Given the description of an element on the screen output the (x, y) to click on. 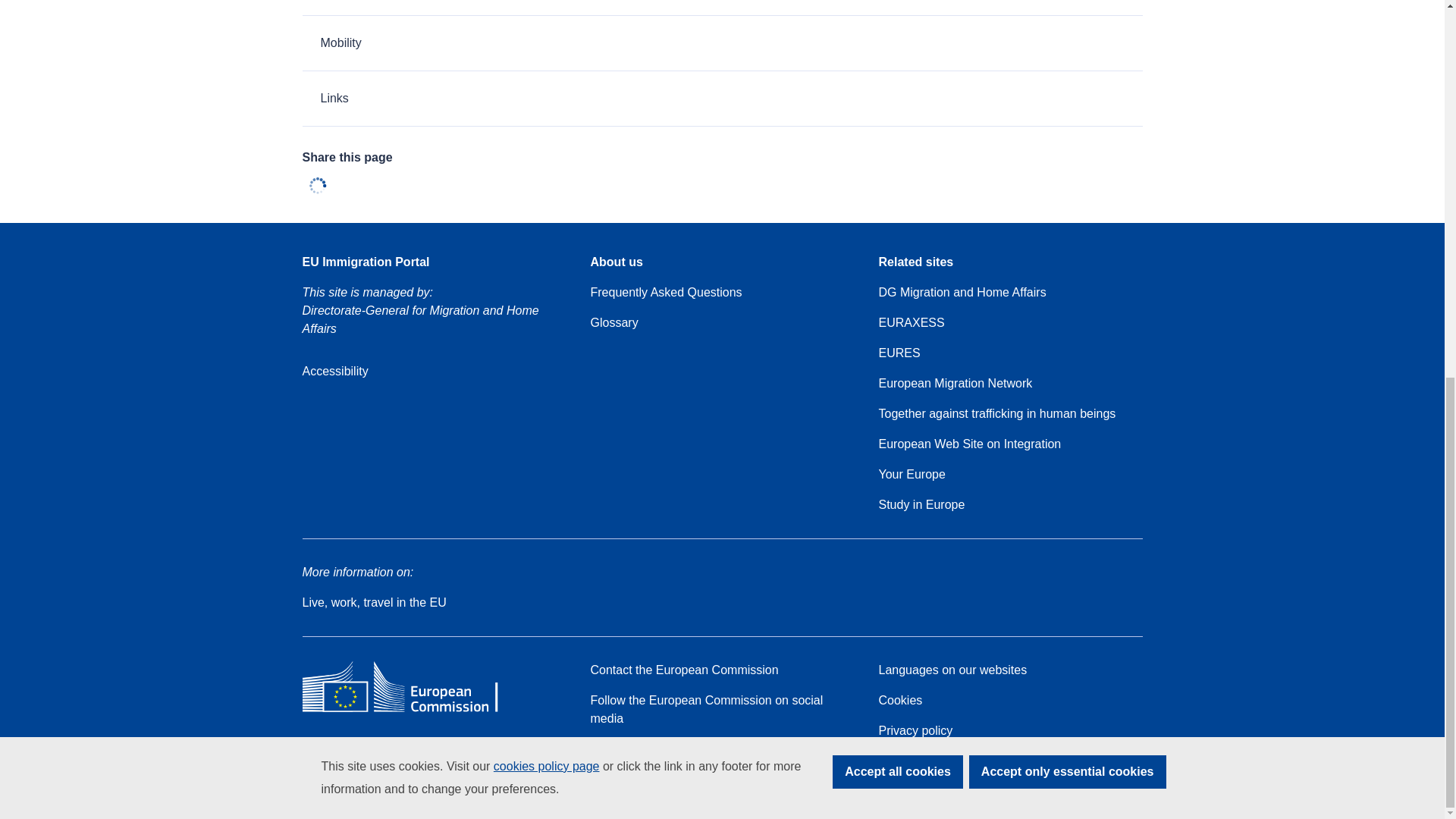
Accessibility (334, 371)
Rights (721, 7)
Accept all cookies (897, 74)
EU Immigration Portal (365, 262)
Links (721, 98)
Accept only essential cookies (1067, 74)
Frequently Asked Questions (665, 292)
Mobility (721, 42)
European Commission (411, 711)
cookies policy page (546, 69)
